Given the description of an element on the screen output the (x, y) to click on. 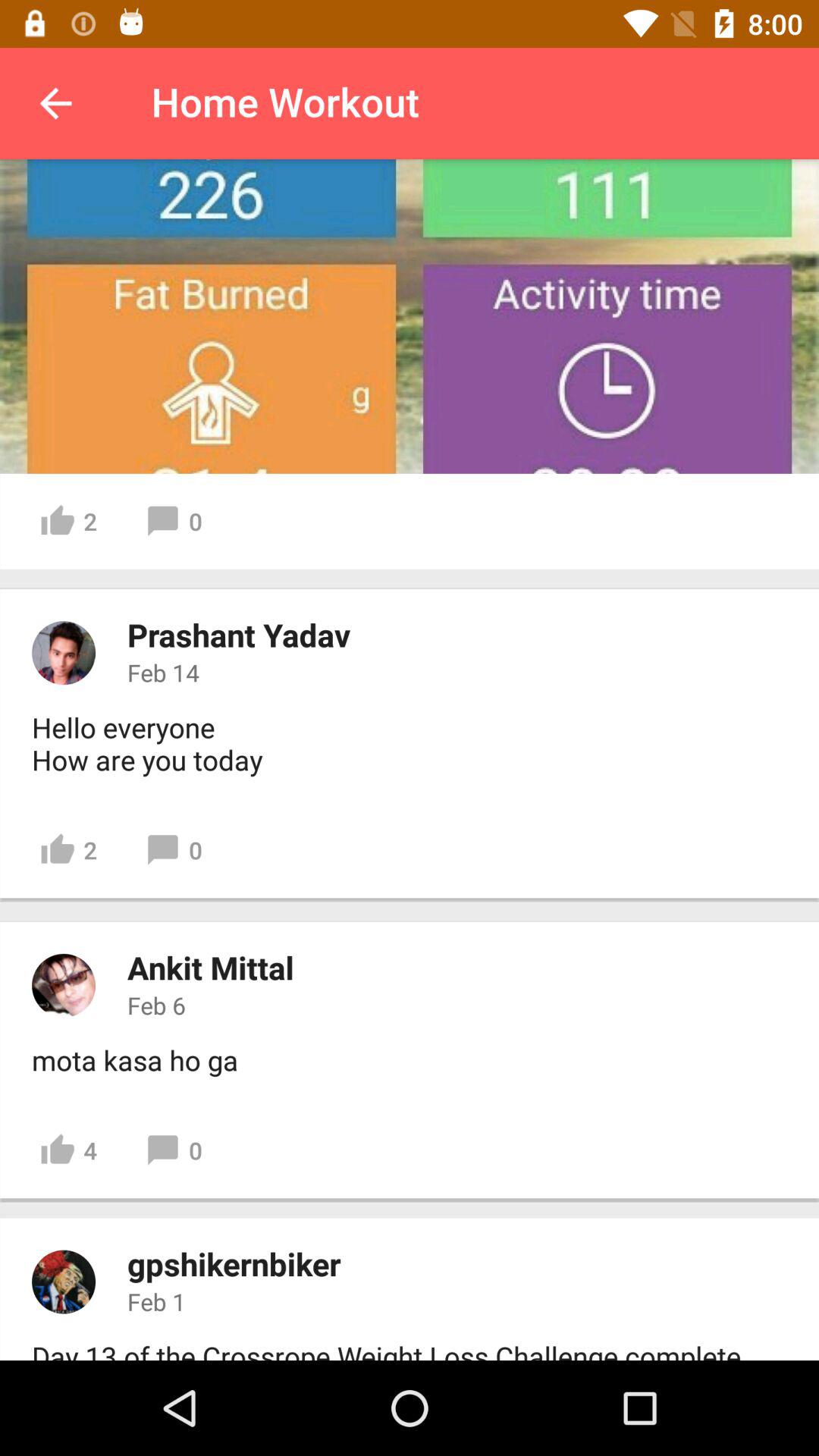
jump until the ankit mittal (210, 967)
